Given the description of an element on the screen output the (x, y) to click on. 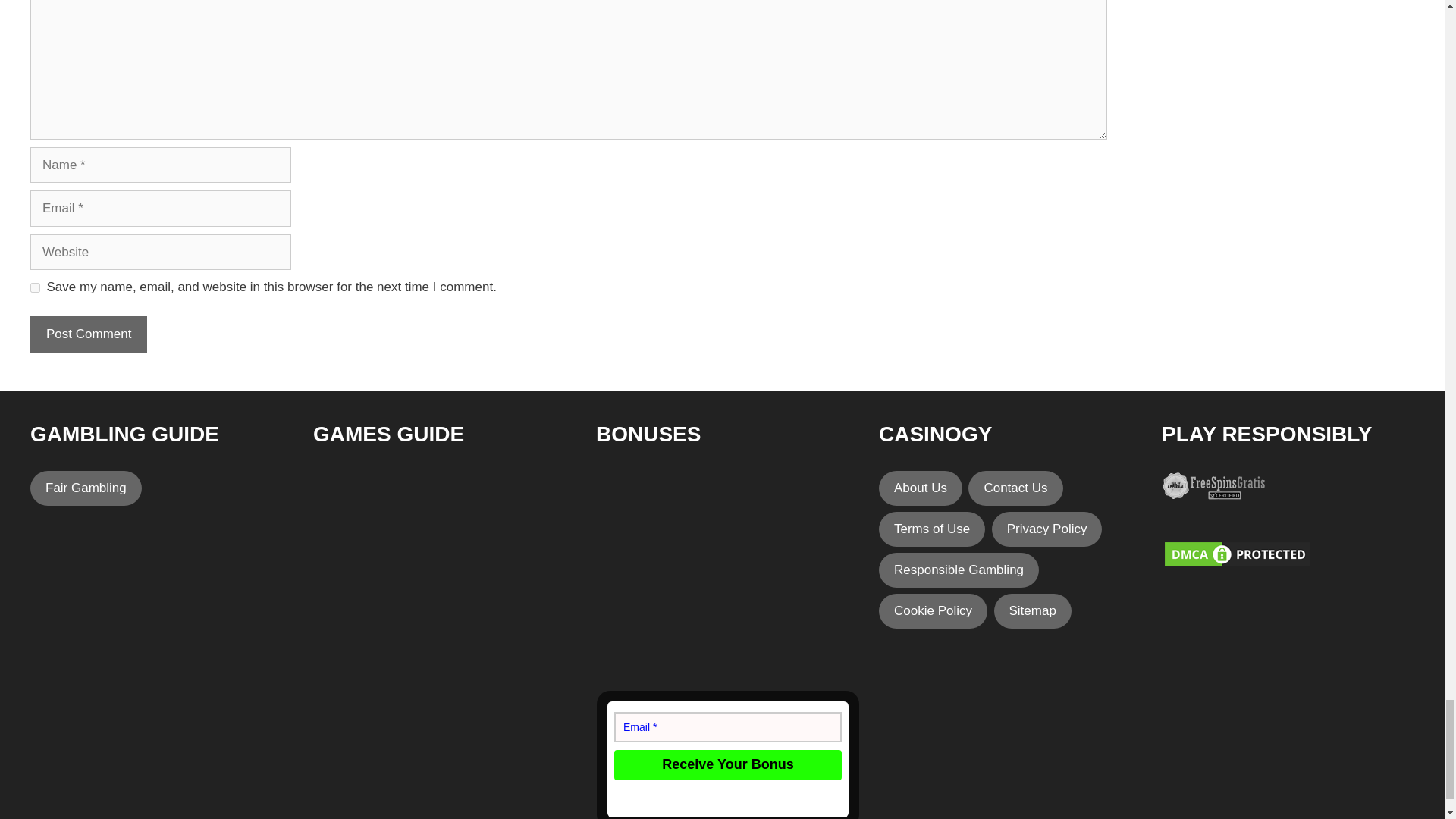
Post Comment (88, 334)
yes (35, 287)
